Given the description of an element on the screen output the (x, y) to click on. 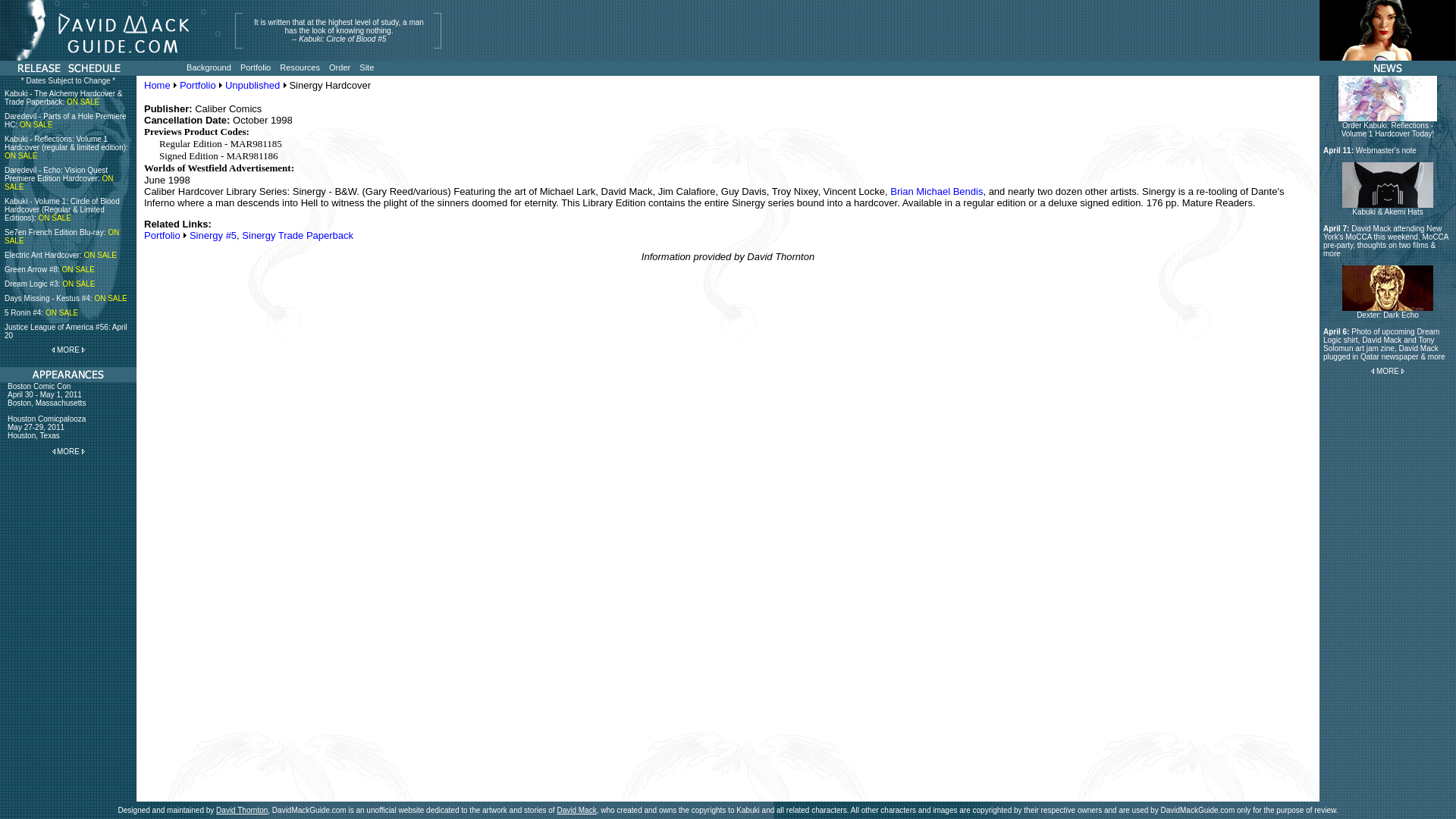
MORE (68, 349)
 Portfolio  (1387, 126)
Portfolio (255, 67)
Webmaster's note (162, 235)
Unpublished (1385, 150)
Dexter: Dark Echo (252, 84)
Sinergy Trade Paperback (1387, 311)
Home (297, 235)
David Thornton (157, 84)
David Mack (241, 809)
 Resources  (575, 809)
MORE (299, 67)
